Given the description of an element on the screen output the (x, y) to click on. 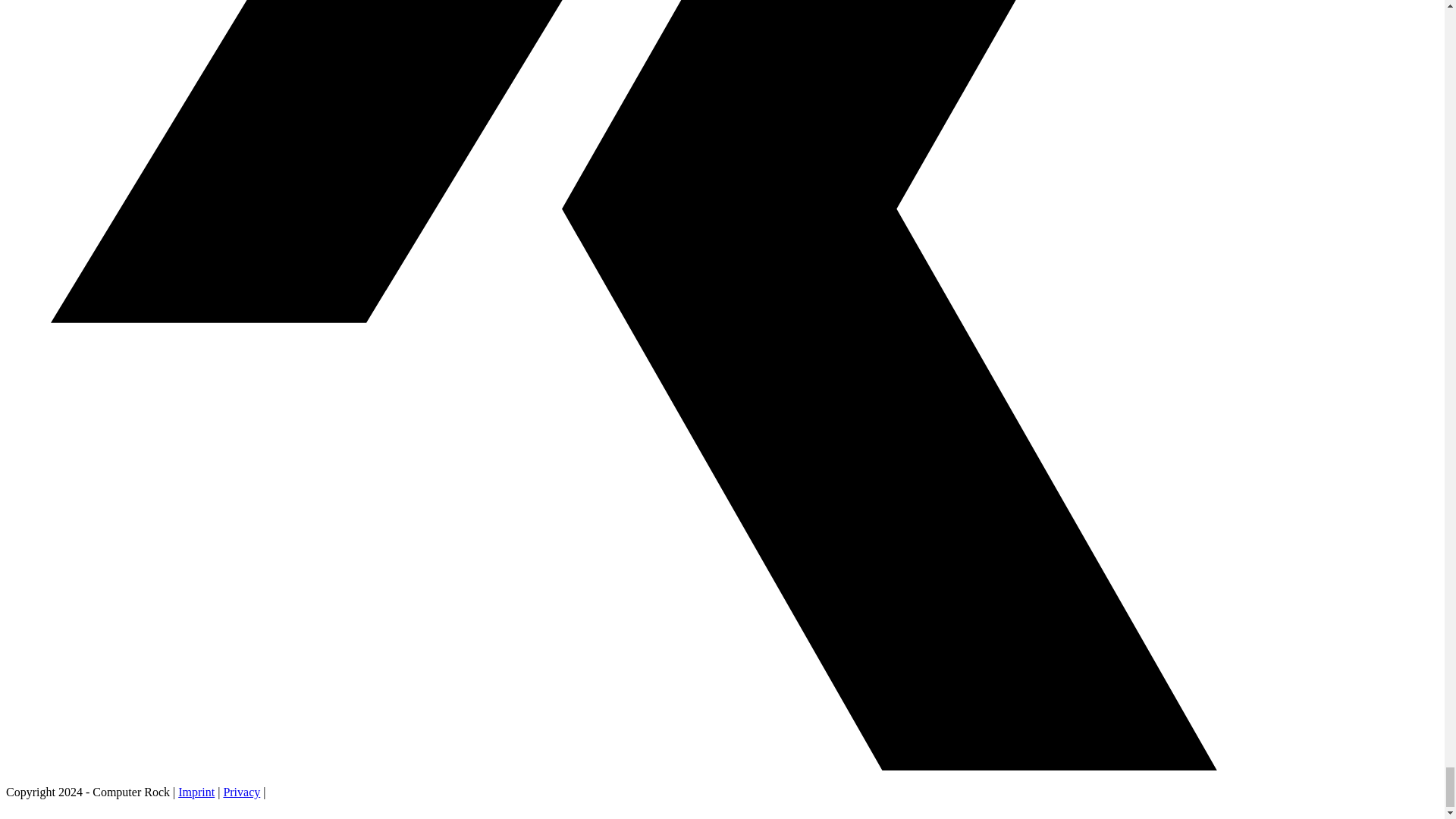
Privacy (241, 791)
Imprint (195, 791)
